Given the description of an element on the screen output the (x, y) to click on. 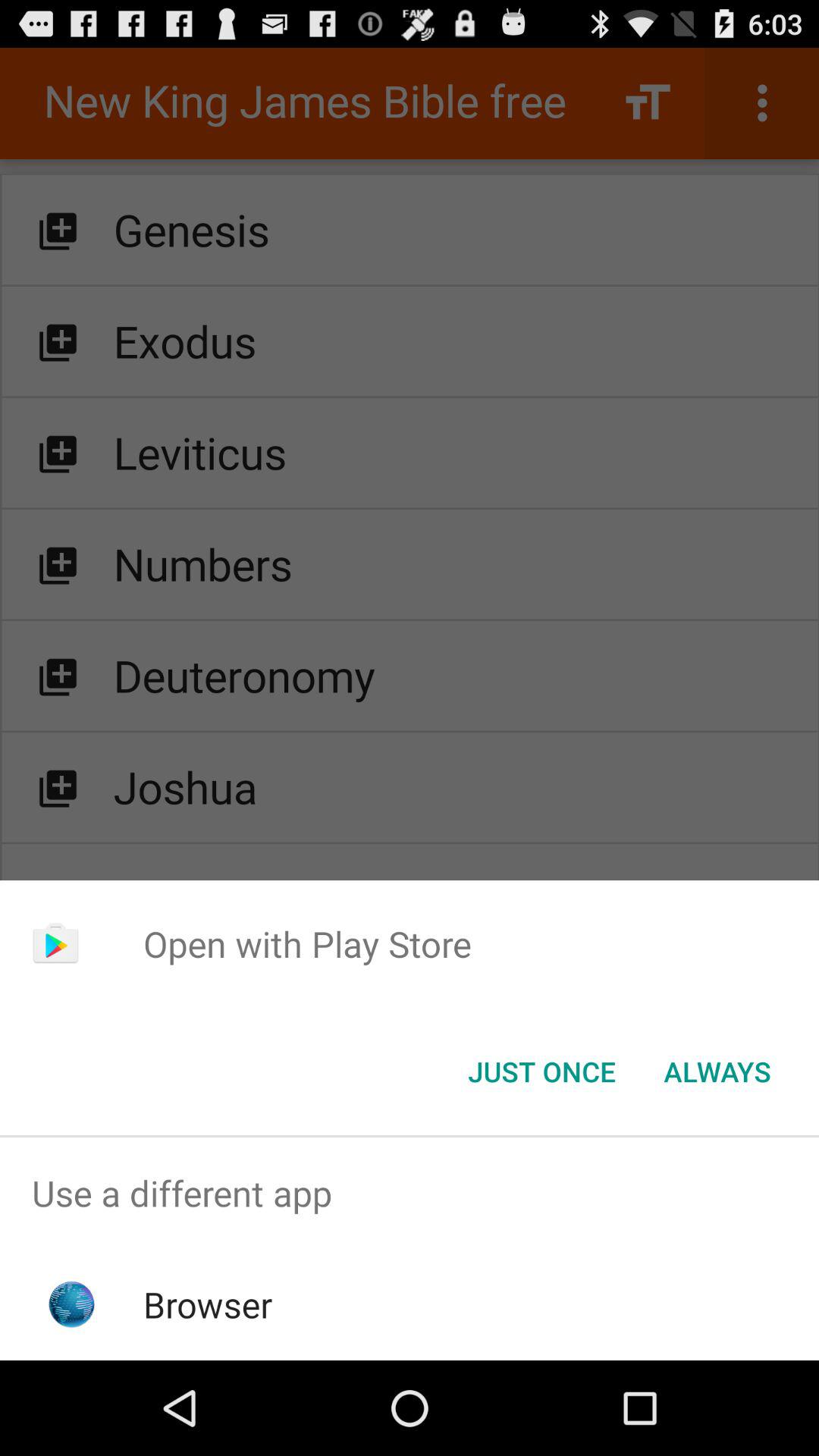
tap the icon next to the just once (717, 1071)
